Given the description of an element on the screen output the (x, y) to click on. 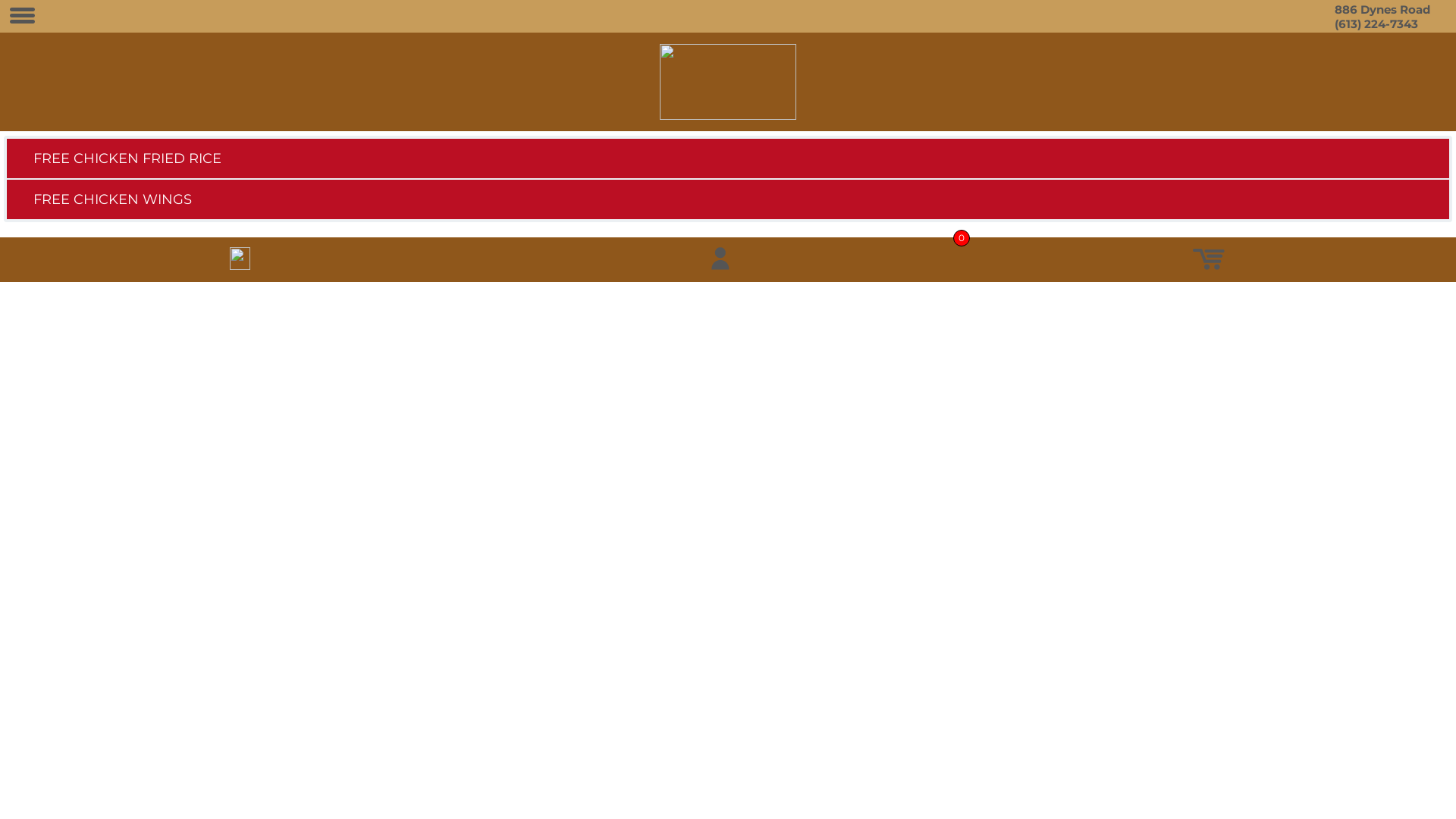
Nav Element type: text (22, 16)
FREE CHICKEN WINGS Element type: text (727, 199)
(613) 224-7343 Element type: text (1376, 23)
FREE CHICKEN FRIED RICE Element type: text (727, 158)
